Given the description of an element on the screen output the (x, y) to click on. 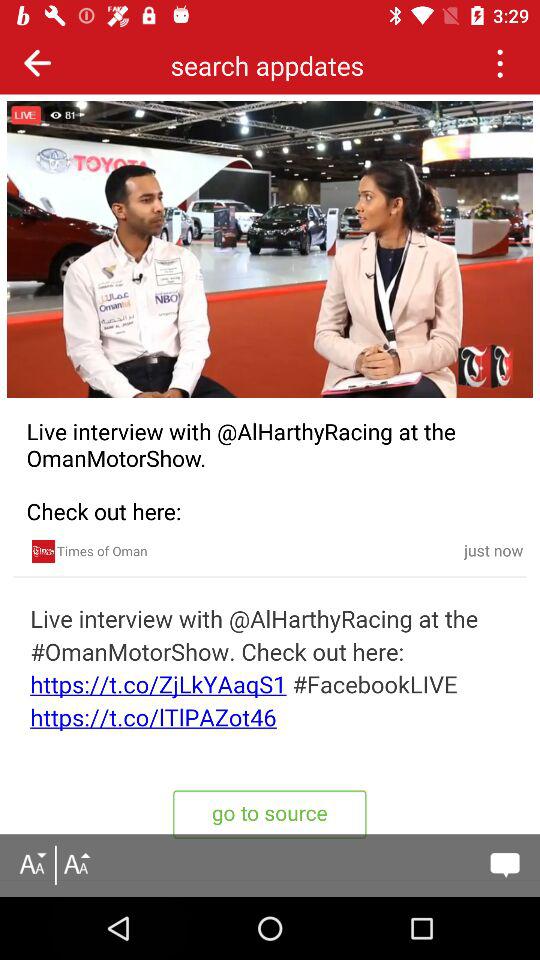
select the crush button (499, 62)
